Given the description of an element on the screen output the (x, y) to click on. 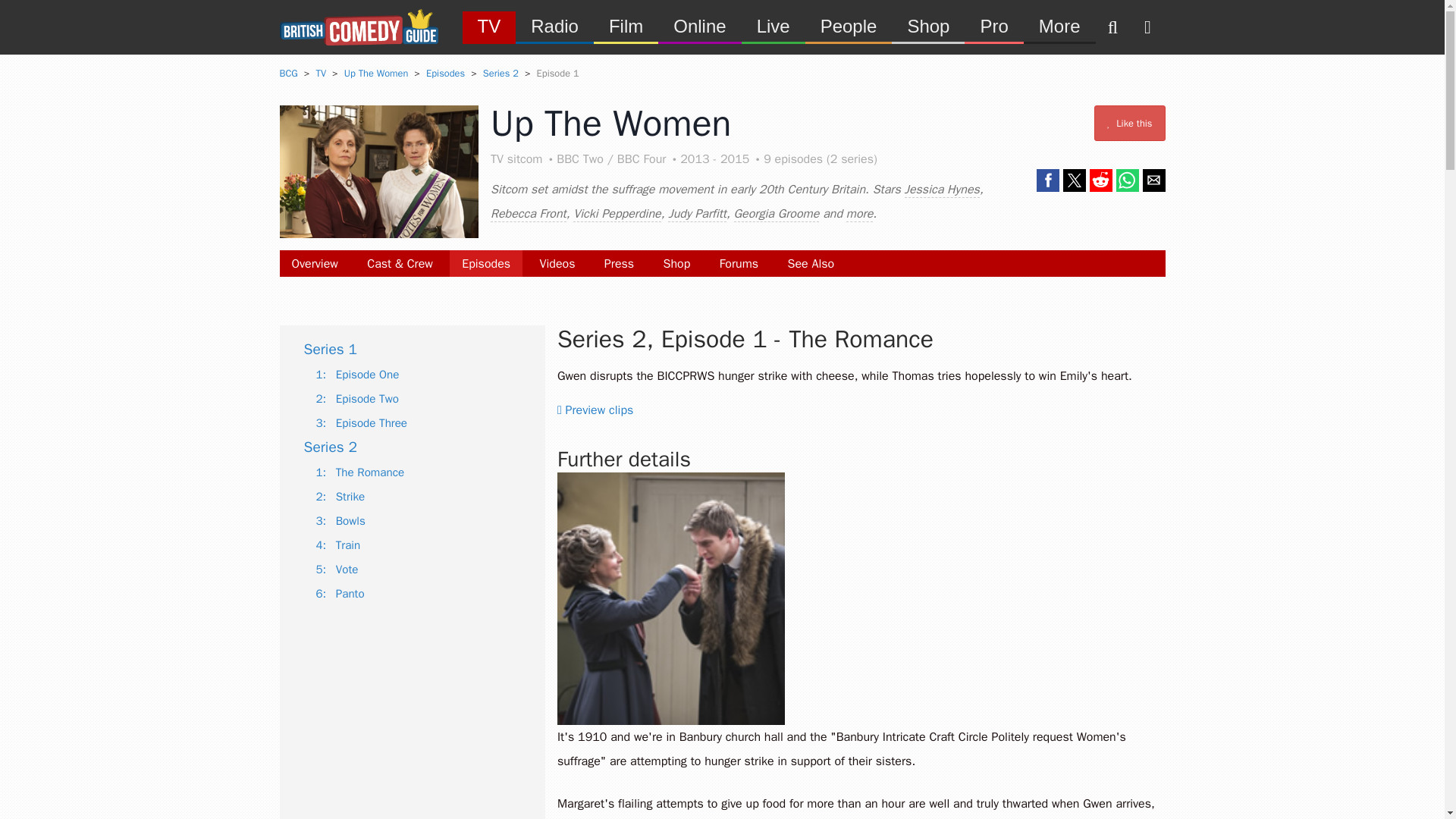
Vicki Pepperdine (617, 213)
Jessica Hynes (941, 189)
Film (626, 25)
1: Episode One (356, 374)
More (1059, 25)
Shop (676, 263)
Like this (1130, 122)
Online (699, 25)
People (848, 25)
Georgia Groome (776, 213)
